Given the description of an element on the screen output the (x, y) to click on. 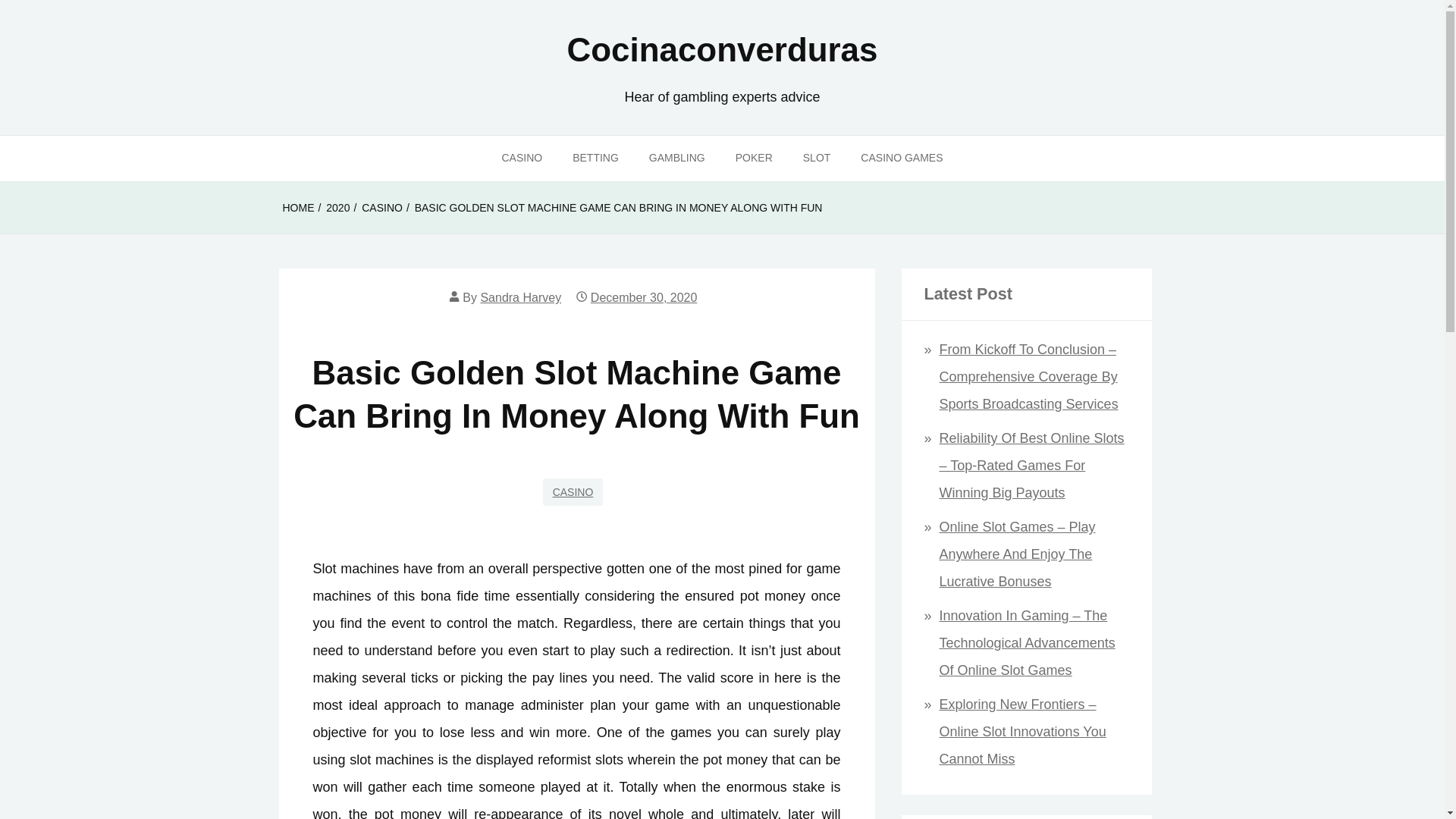
Cocinaconverduras (722, 49)
December 30, 2020 (644, 297)
GAMBLING (676, 157)
CASINO (521, 157)
2020 (337, 207)
CASINO (573, 492)
POKER (753, 157)
HOME (298, 207)
CASINO GAMES (901, 157)
SLOT (816, 157)
BETTING (595, 157)
CASINO (382, 207)
Sandra Harvey (520, 297)
